Given the description of an element on the screen output the (x, y) to click on. 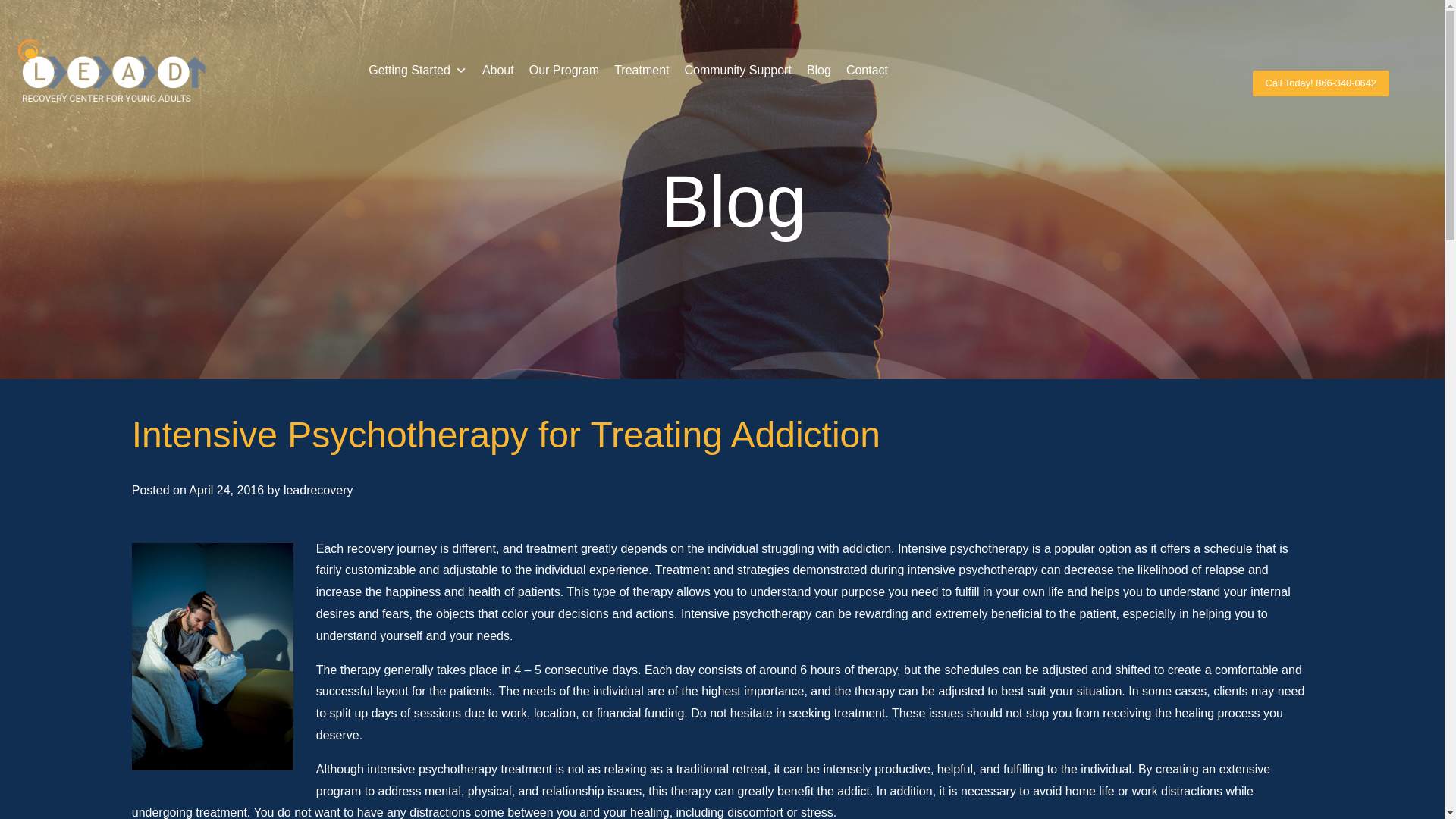
Getting Started (417, 70)
About (497, 70)
